Given the description of an element on the screen output the (x, y) to click on. 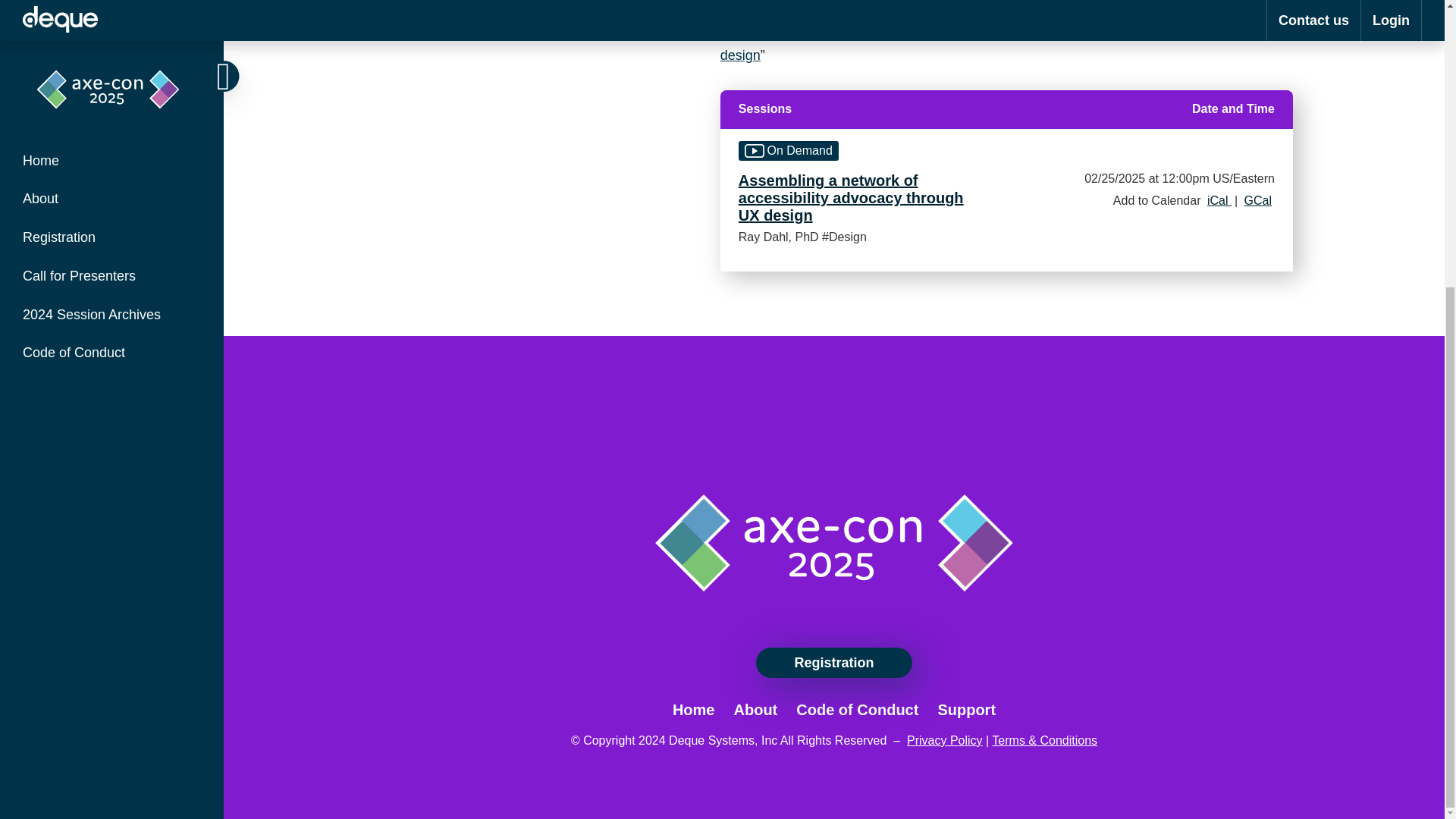
Code of Conduct (857, 709)
Privacy Policy (944, 739)
iCal (1219, 200)
Support (966, 709)
About (755, 709)
Registration (833, 662)
GCal (1258, 200)
Home (693, 709)
